Given the description of an element on the screen output the (x, y) to click on. 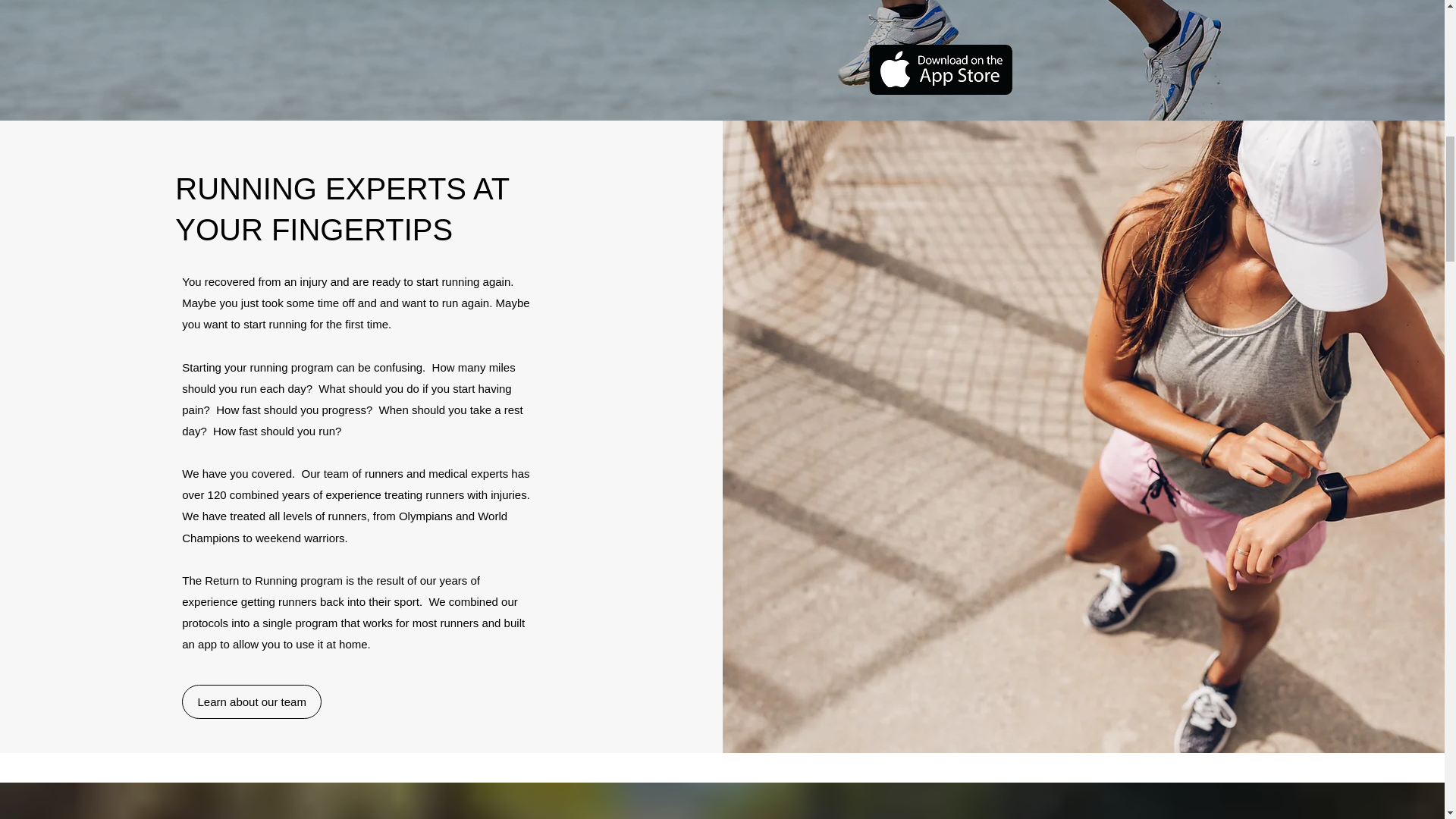
Learn about our team (251, 701)
